Given the description of an element on the screen output the (x, y) to click on. 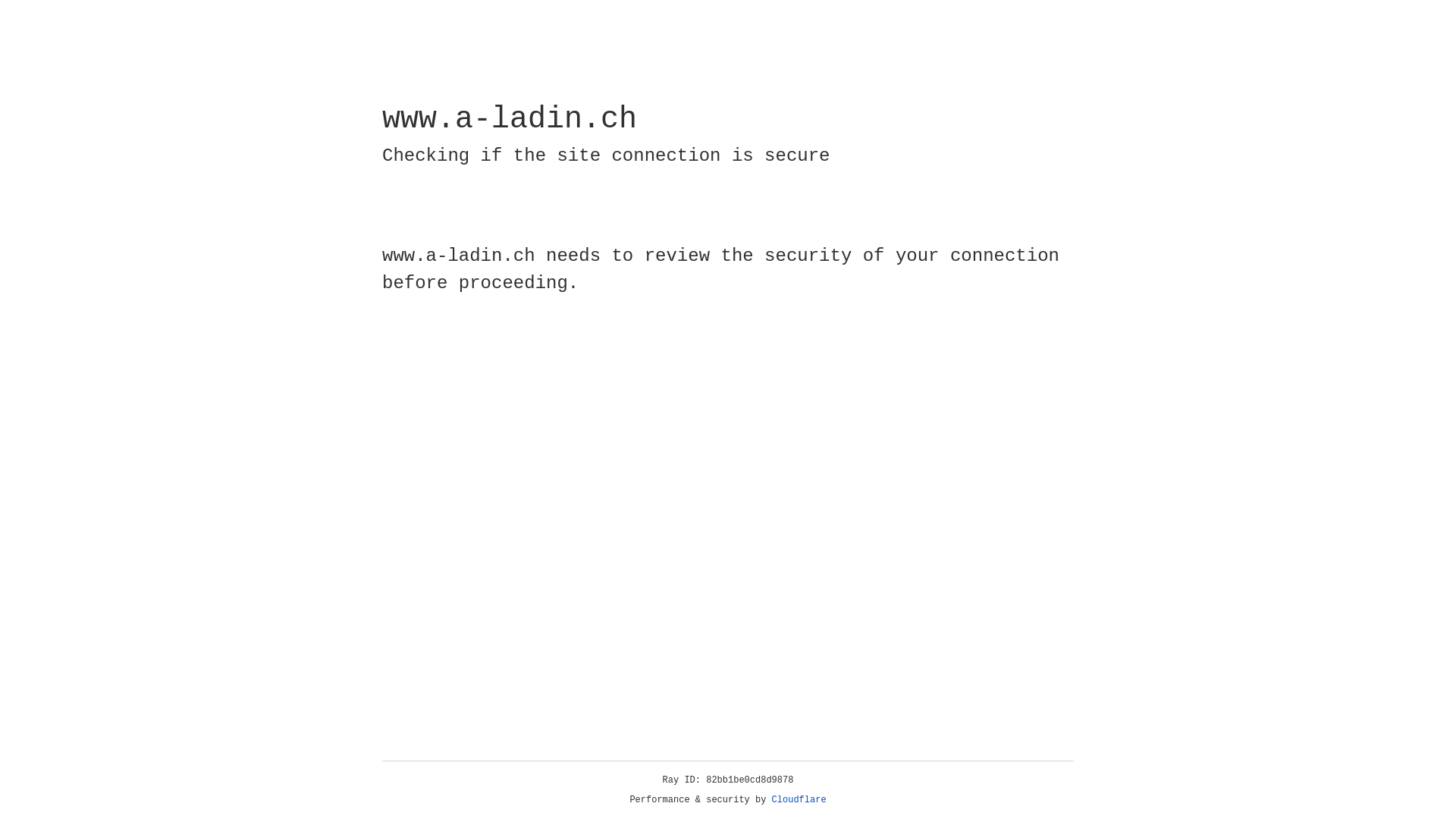
Cloudflare Element type: text (798, 799)
